Given the description of an element on the screen output the (x, y) to click on. 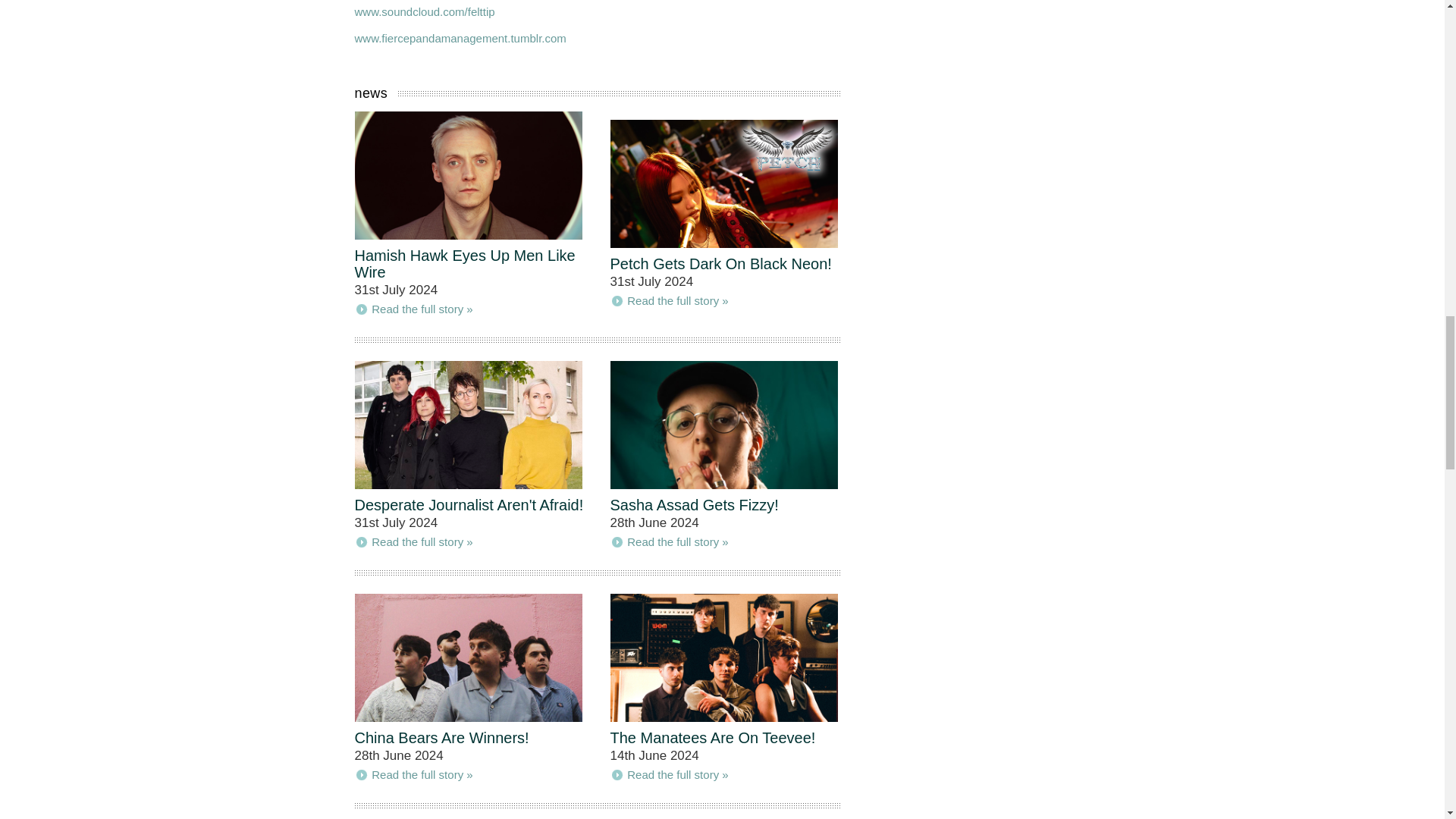
The Manatees Are On Teevee! (712, 737)
China Bears Are Winners! (442, 737)
Desperate Journalist Aren't Afraid! (469, 504)
Hamish Hawk Eyes Up Men Like Wire (465, 263)
Petch Gets Dark On Black Neon! (720, 263)
Sasha Assad Gets Fizzy! (693, 504)
www.fiercepandamanagement.tumblr.com (460, 38)
